Given the description of an element on the screen output the (x, y) to click on. 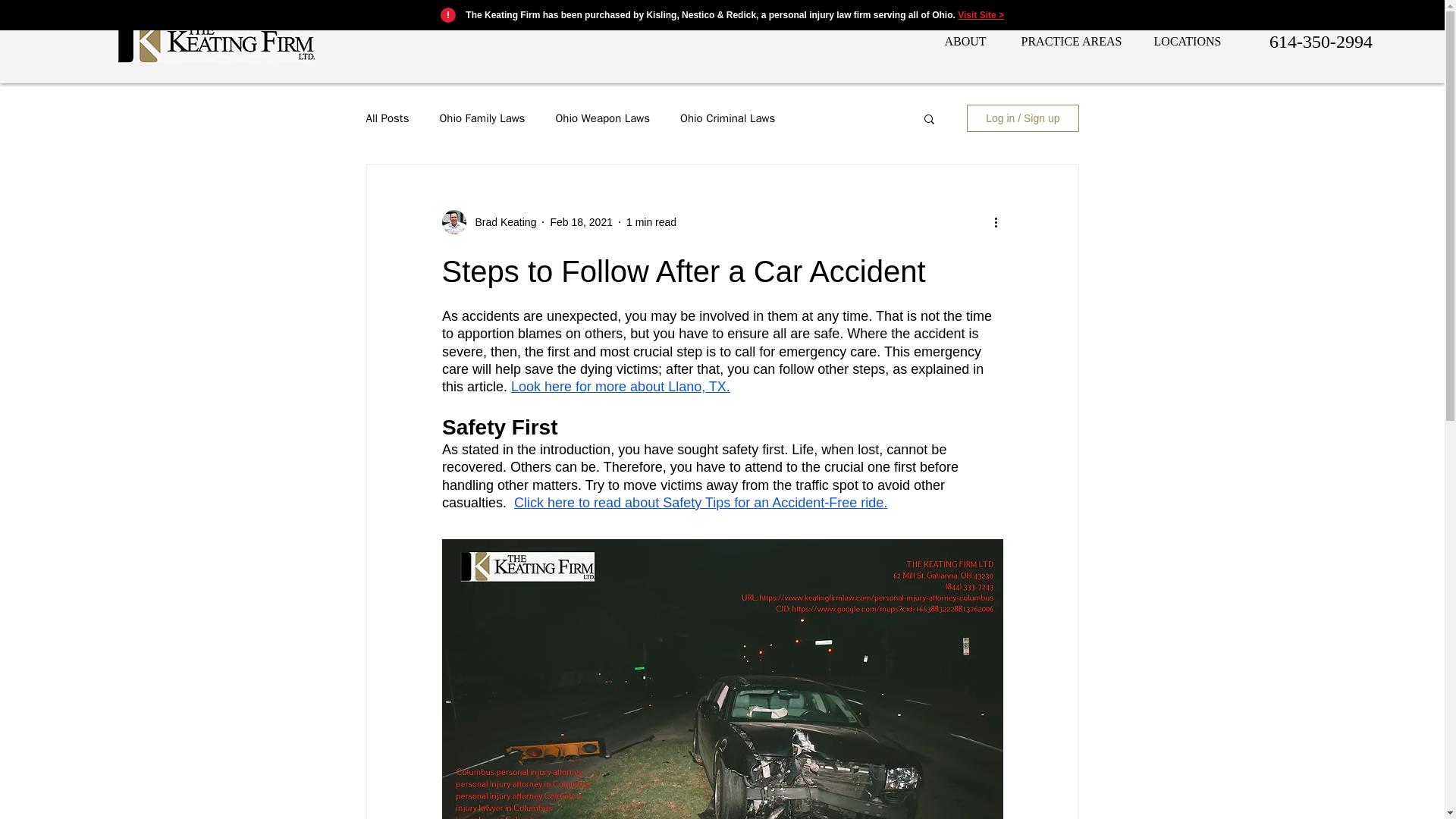
All Posts (387, 117)
614-350-2994 (1320, 41)
Ohio Criminal Laws (726, 117)
LOCATIONS (1188, 41)
Look here for more about Llano, TX. (620, 386)
Ohio Weapon Laws (601, 117)
ABOUT (965, 41)
1 min read (651, 221)
Brad Keating (500, 221)
Ohio Family Laws (481, 117)
Feb 18, 2021 (581, 221)
